Given the description of an element on the screen output the (x, y) to click on. 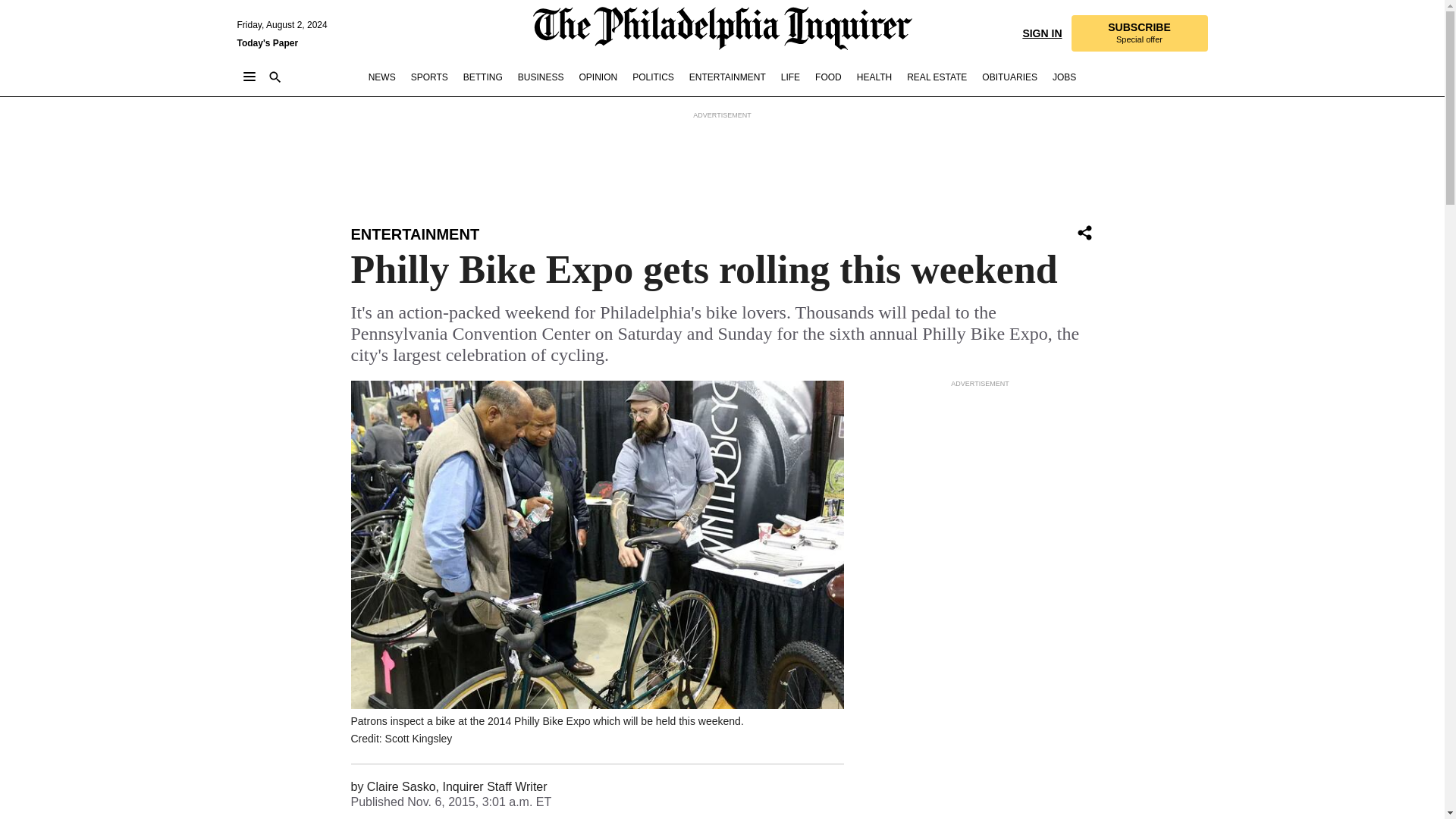
REAL ESTATE (936, 77)
LIFE (789, 77)
SIGN IN (1041, 32)
POLITICS (652, 77)
BUSINESS (541, 77)
NEWS (382, 77)
Entertainment (414, 234)
OBITUARIES (1008, 77)
Today's Paper (266, 42)
FOOD (828, 77)
ENTERTAINMENT (414, 234)
HEALTH (874, 77)
SPORTS (429, 77)
Share Icon (1084, 232)
BETTING (482, 77)
